Given the description of an element on the screen output the (x, y) to click on. 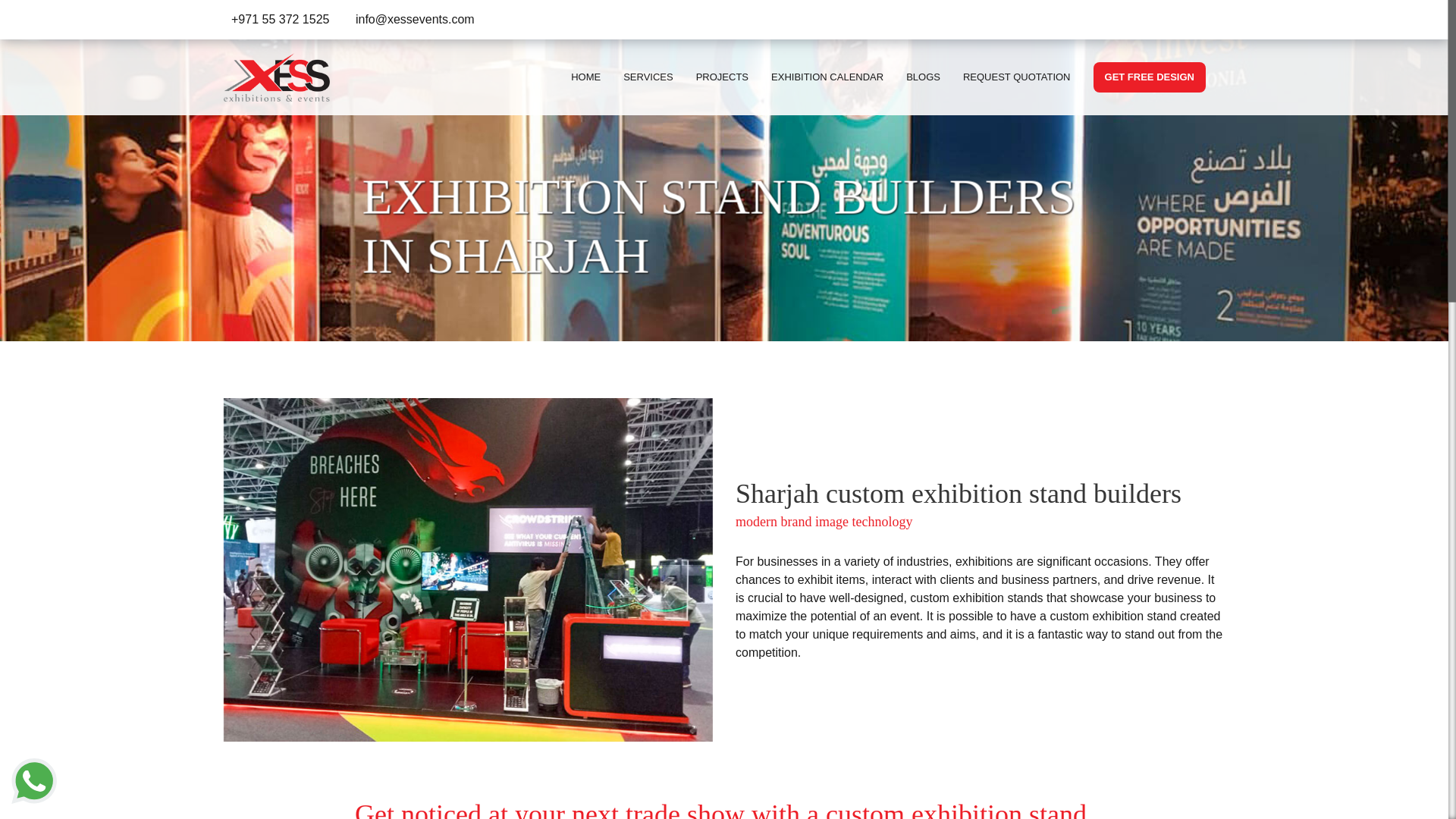
GET FREE DESIGN (1149, 77)
REQUEST QUOTATION (1016, 77)
EXHIBITION CALENDAR (827, 77)
